Given the description of an element on the screen output the (x, y) to click on. 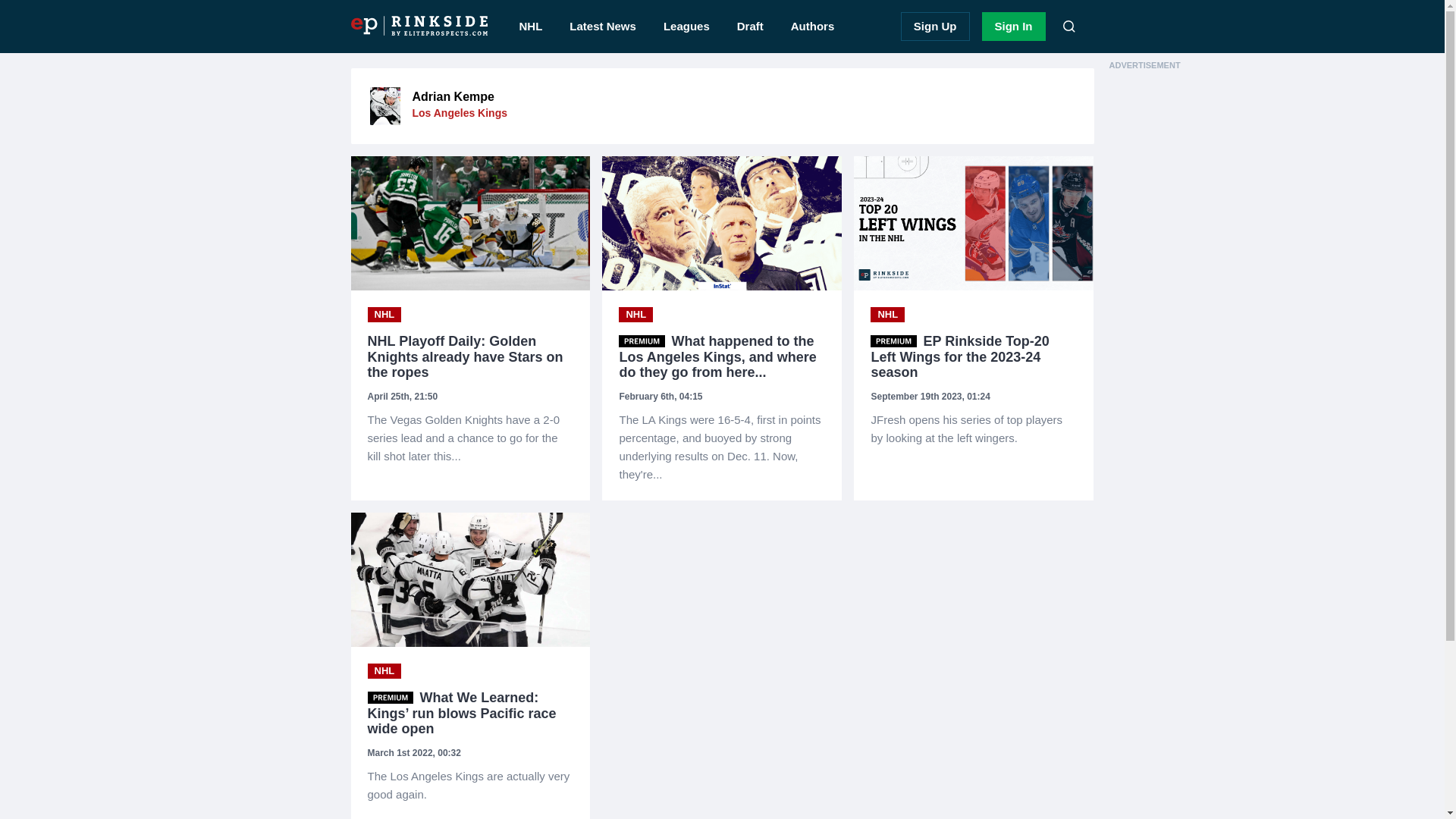
Sign Up (935, 26)
Authors (812, 26)
NHL (383, 314)
Sign In (1013, 26)
EP Rinkside Top-20 Left Wings for the 2023-24 season (973, 429)
NHL (383, 670)
Los Angeles Kings (460, 112)
NHL (635, 314)
EP Rinkside Top-20 Left Wings for the 2023-24 season (973, 356)
NHL (887, 314)
